Given the description of an element on the screen output the (x, y) to click on. 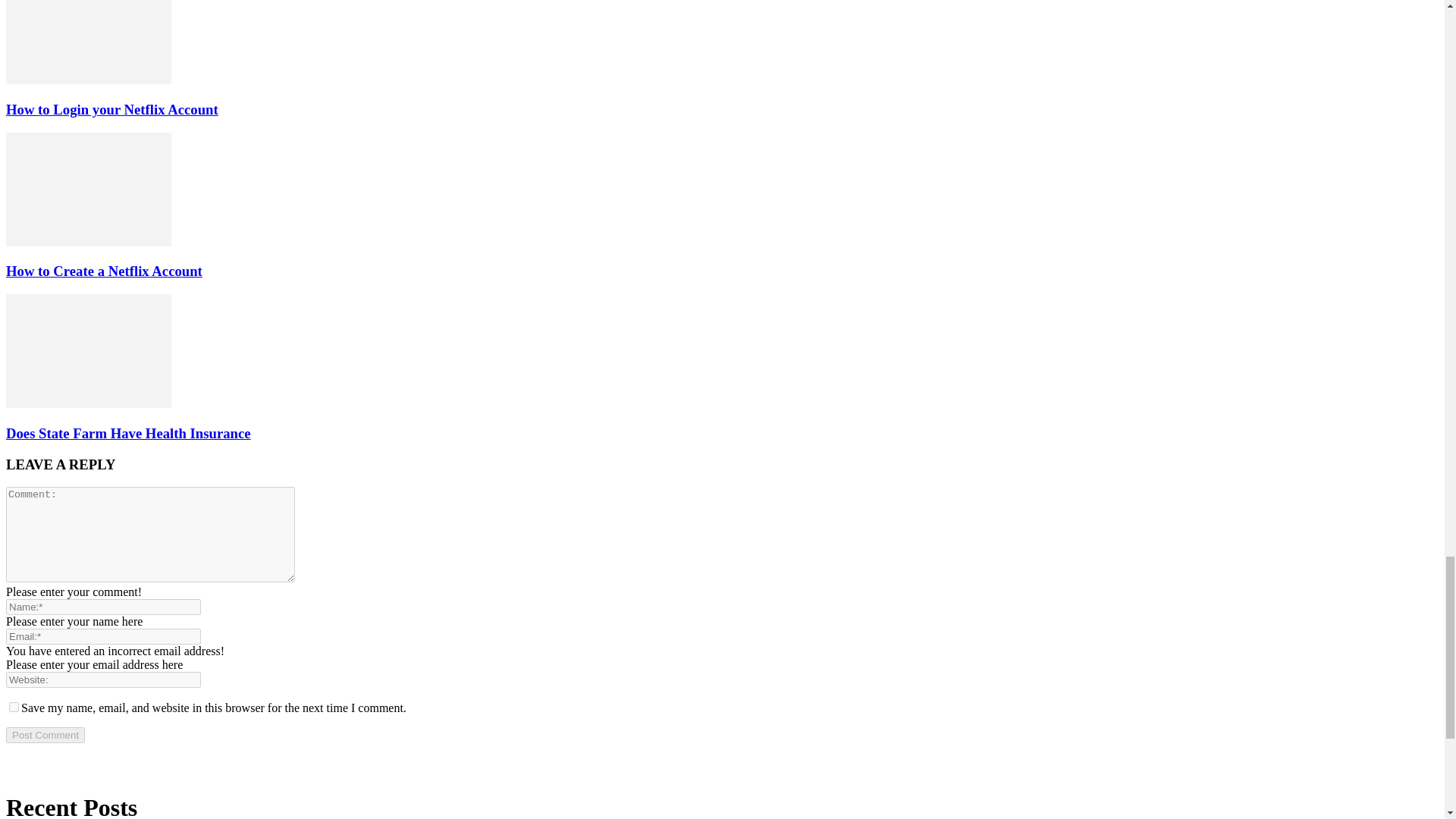
How to Login your Netflix Account (88, 79)
How to Login your Netflix Account (88, 42)
Post Comment (44, 734)
yes (13, 706)
